Given the description of an element on the screen output the (x, y) to click on. 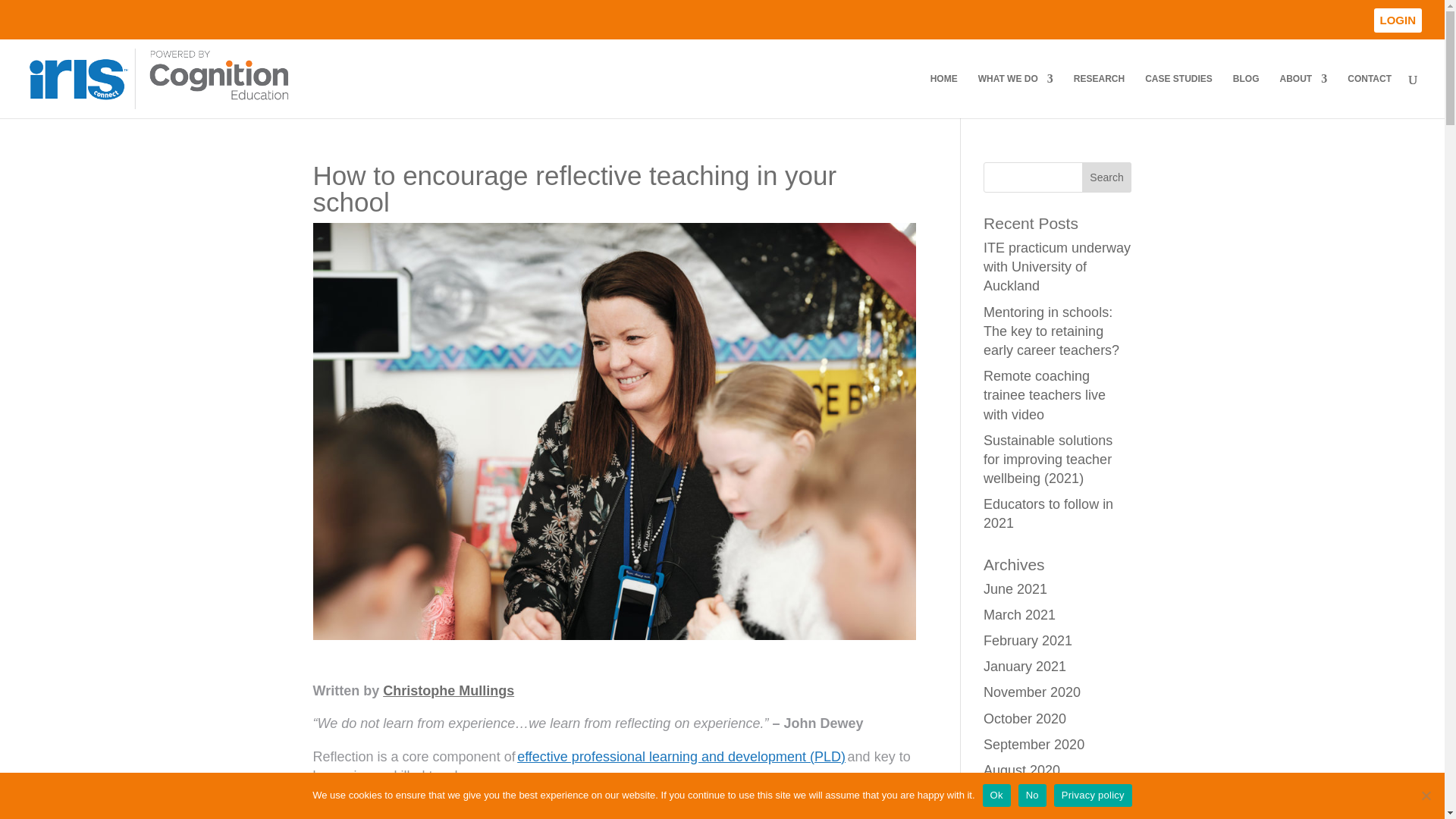
Search (1106, 177)
No (1425, 795)
CASE STUDIES (1178, 95)
ABOUT (1303, 95)
RESEARCH (1099, 95)
LOGIN (1398, 20)
Christophe Mullings (447, 690)
WHAT WE DO (1015, 95)
Search (1106, 177)
CONTACT (1369, 95)
